Given the description of an element on the screen output the (x, y) to click on. 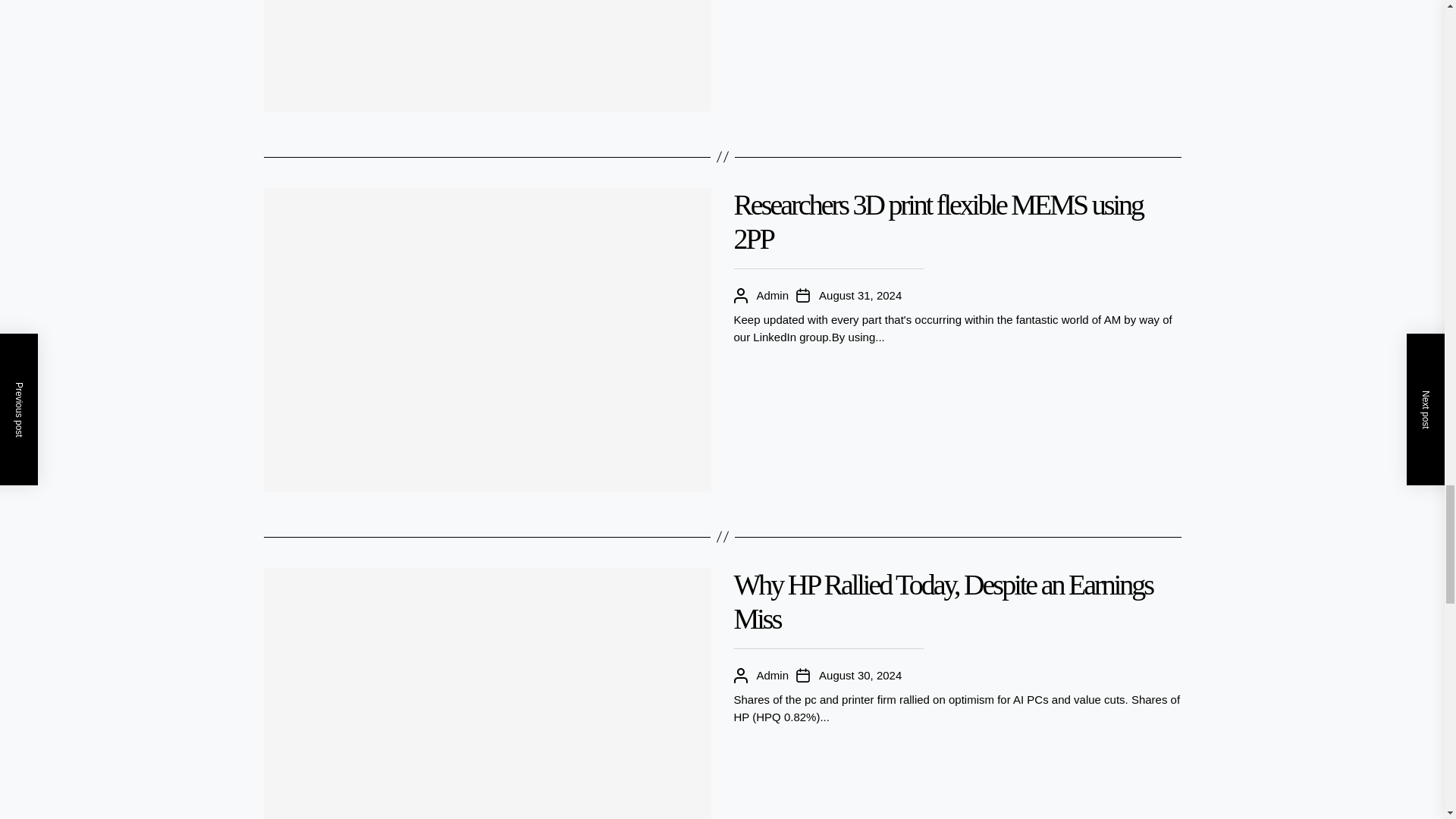
August 31, 2024 (859, 295)
Admin (773, 675)
Admin (773, 295)
Researchers 3D print flexible MEMS using 2PP (937, 222)
August 30, 2024 (859, 675)
Why HP Rallied Today, Despite an Earnings Miss (943, 601)
